Given the description of an element on the screen output the (x, y) to click on. 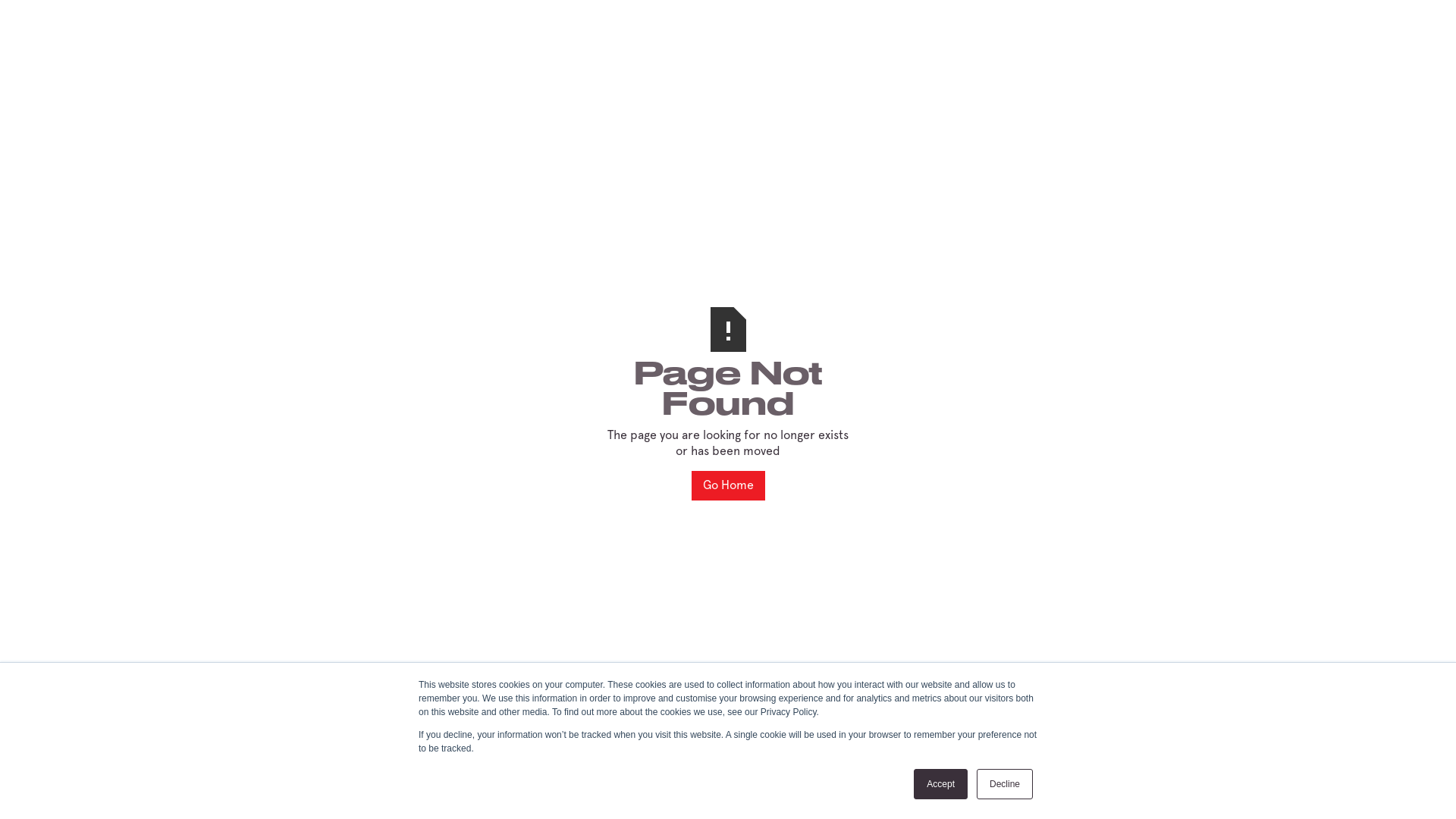
Decline Element type: text (1004, 783)
Go Home Element type: text (728, 485)
Accept Element type: text (940, 783)
